Given the description of an element on the screen output the (x, y) to click on. 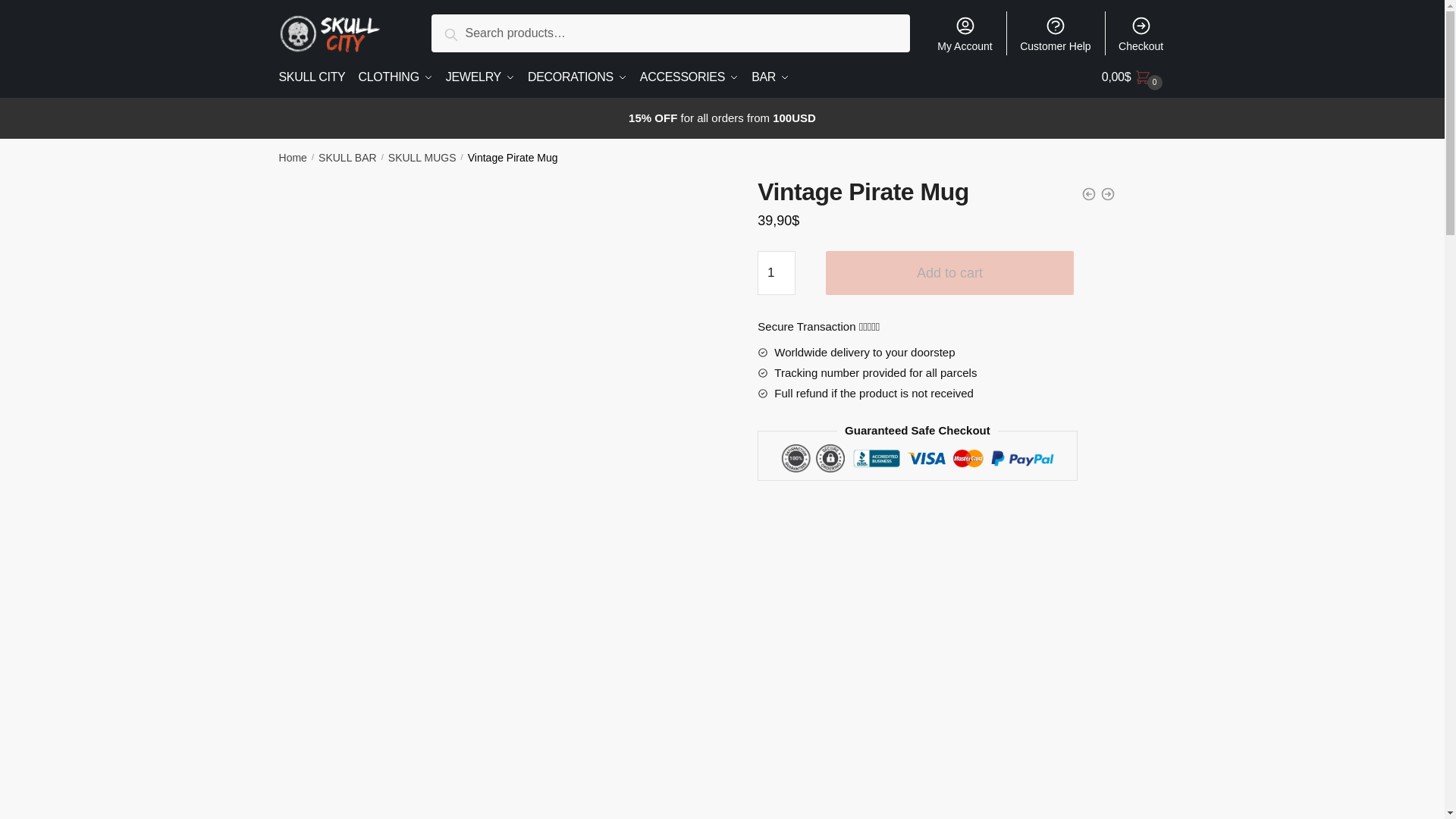
Search (467, 31)
Customer Help (1055, 33)
CLOTHING (395, 76)
SKULL CITY (315, 76)
My Account (964, 33)
View your shopping cart (1134, 76)
JEWELRY (480, 76)
Skip to content (40, 9)
DECORATIONS (577, 76)
Checkout (1141, 33)
